Given the description of an element on the screen output the (x, y) to click on. 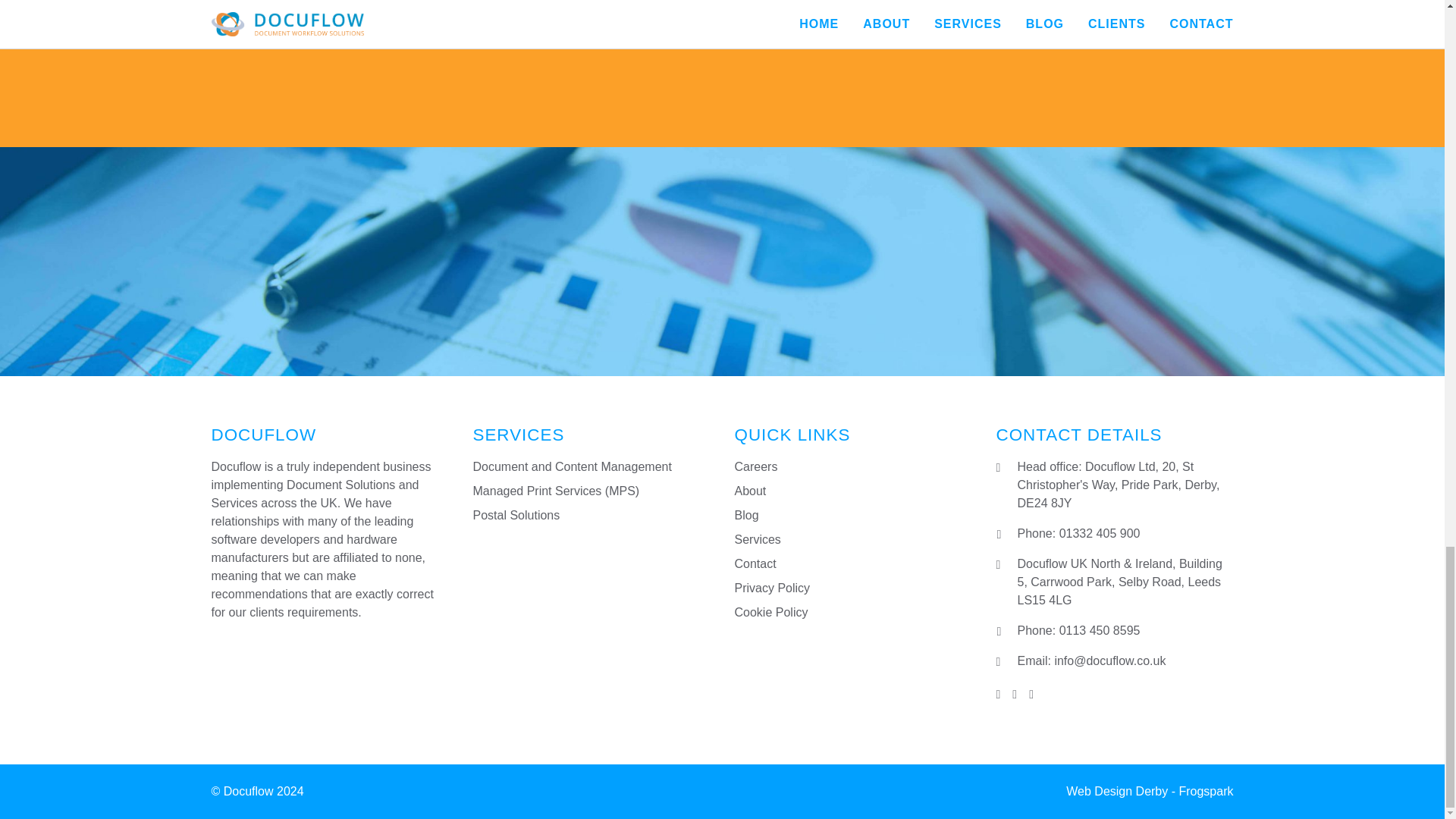
Careers (755, 466)
About (749, 490)
01332 405 900 (1099, 533)
Cookie Policy (770, 612)
0113 450 8595 (1099, 630)
Document and Content Management (572, 466)
Blog (745, 514)
Postal Solutions (516, 514)
Contact (754, 563)
Privacy Policy (771, 587)
